Given the description of an element on the screen output the (x, y) to click on. 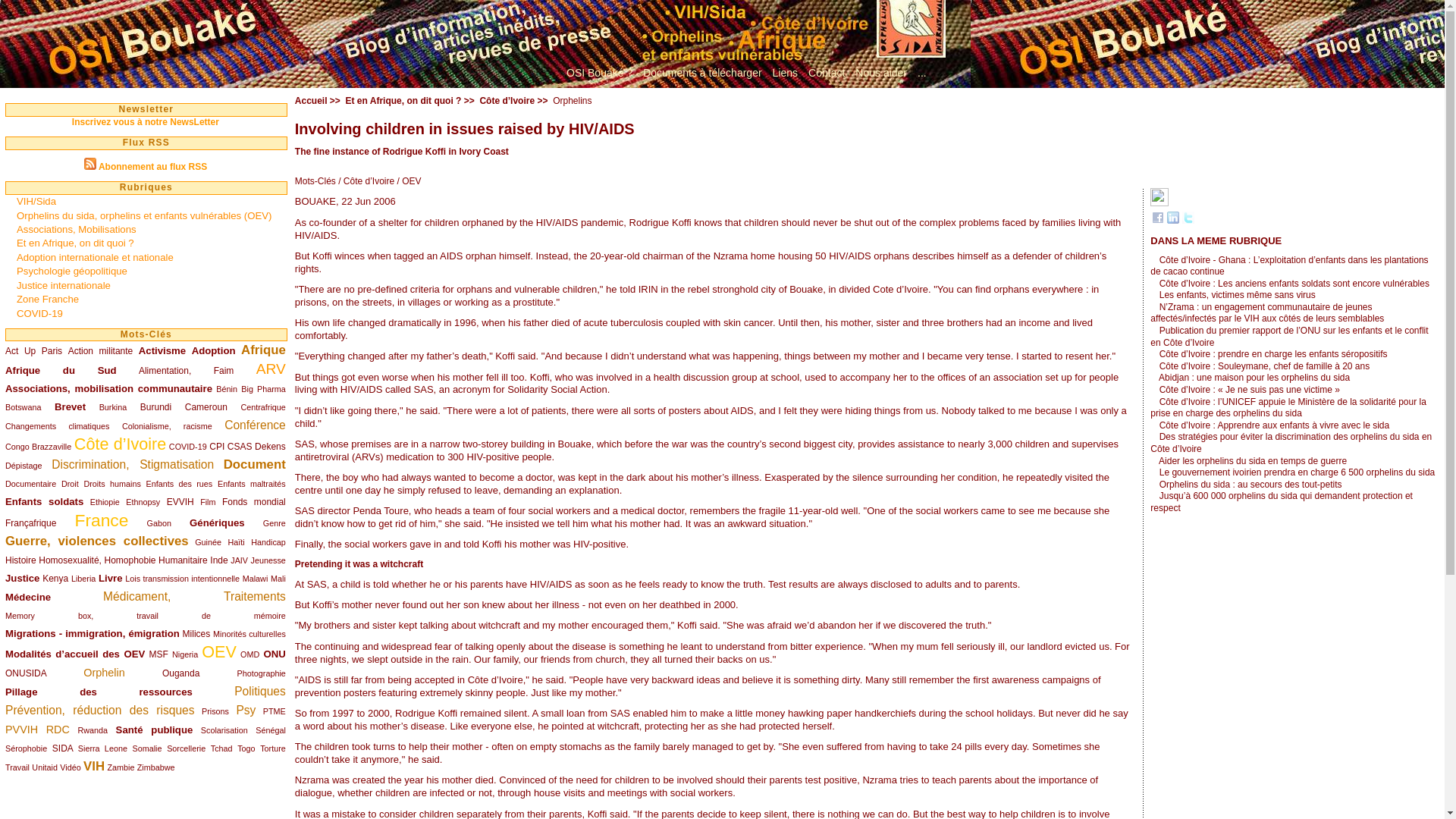
Abonnement au flux RSS (152, 166)
Admin (921, 72)
parrainage (881, 72)
Liens (785, 72)
Nous aider (881, 72)
... (921, 72)
qui somme nous ? (598, 72)
e-mailez nous ! (826, 72)
pour vous abonner au flux rss... (152, 166)
Contact (826, 72)
